Given the description of an element on the screen output the (x, y) to click on. 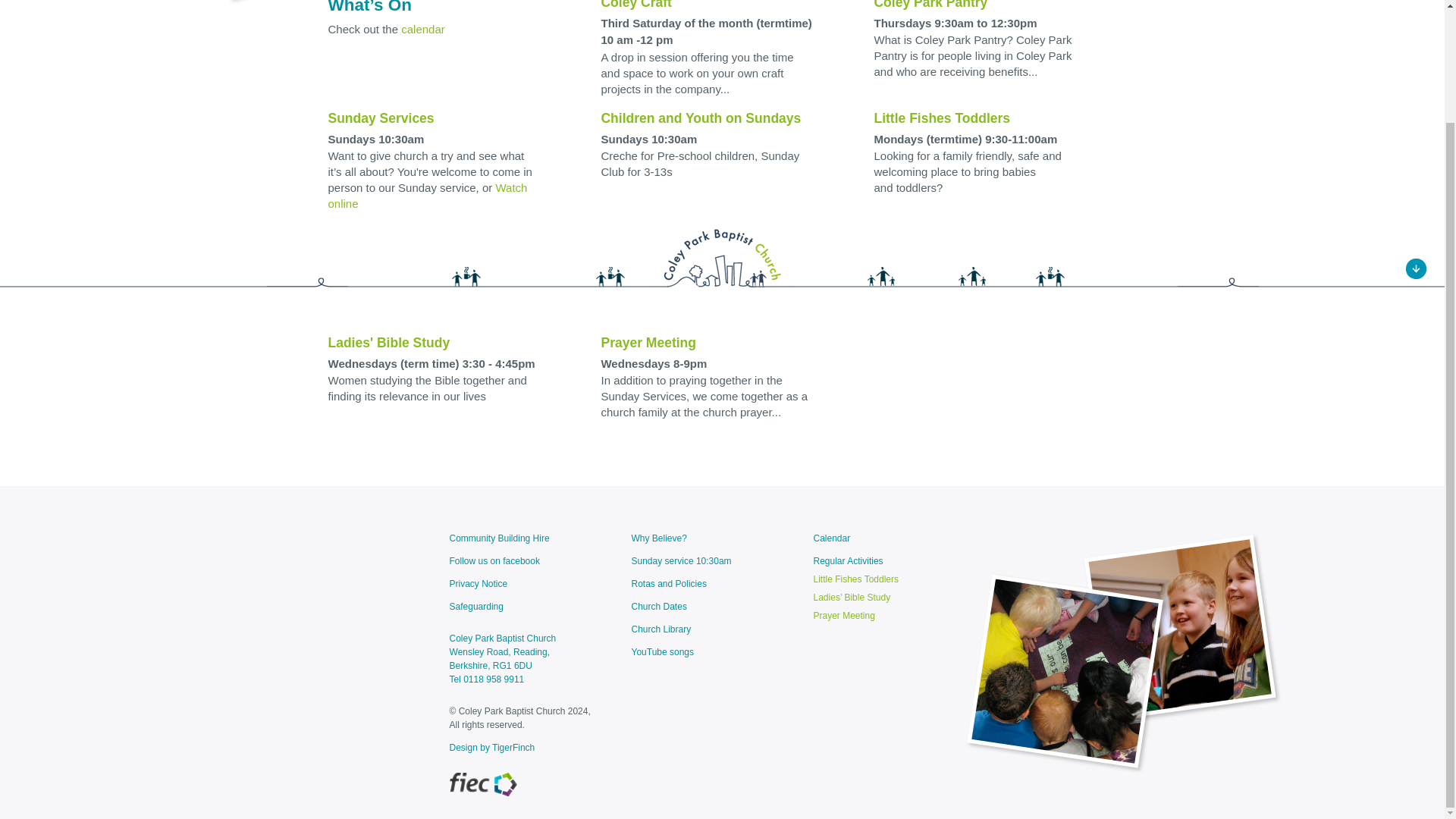
Watch online (427, 194)
Little Fishes Toddlers (941, 118)
Sunday service 10:30am (707, 561)
YouTube songs (707, 652)
Church Dates (707, 606)
Prayer Meeting (647, 342)
Coley Park Baptist Church Home (341, 4)
Coley Park Baptist Church Home (721, 285)
Sunday Services (380, 118)
Ladies' Bible Study (388, 342)
